Given the description of an element on the screen output the (x, y) to click on. 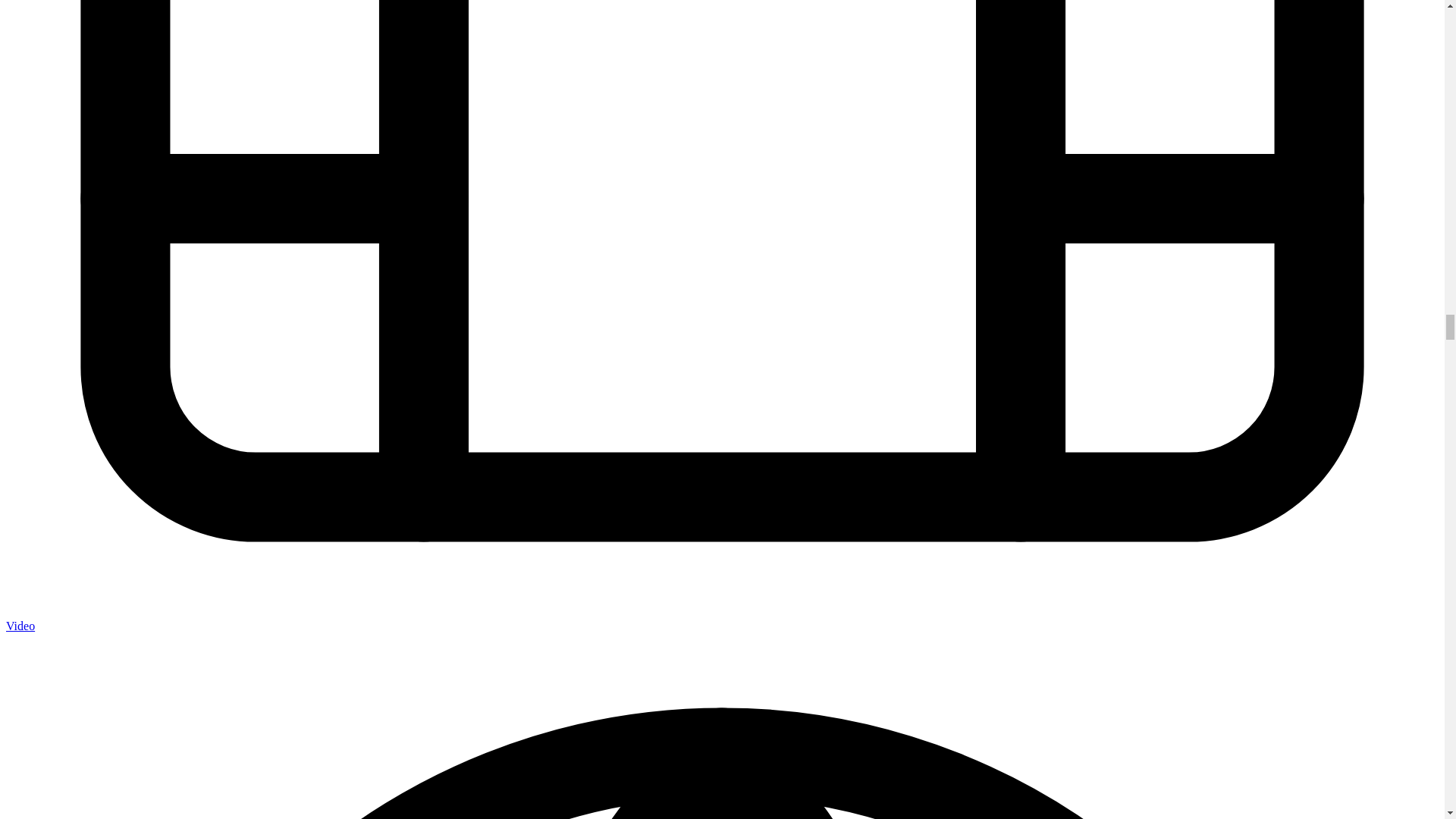
Video (19, 625)
